Given the description of an element on the screen output the (x, y) to click on. 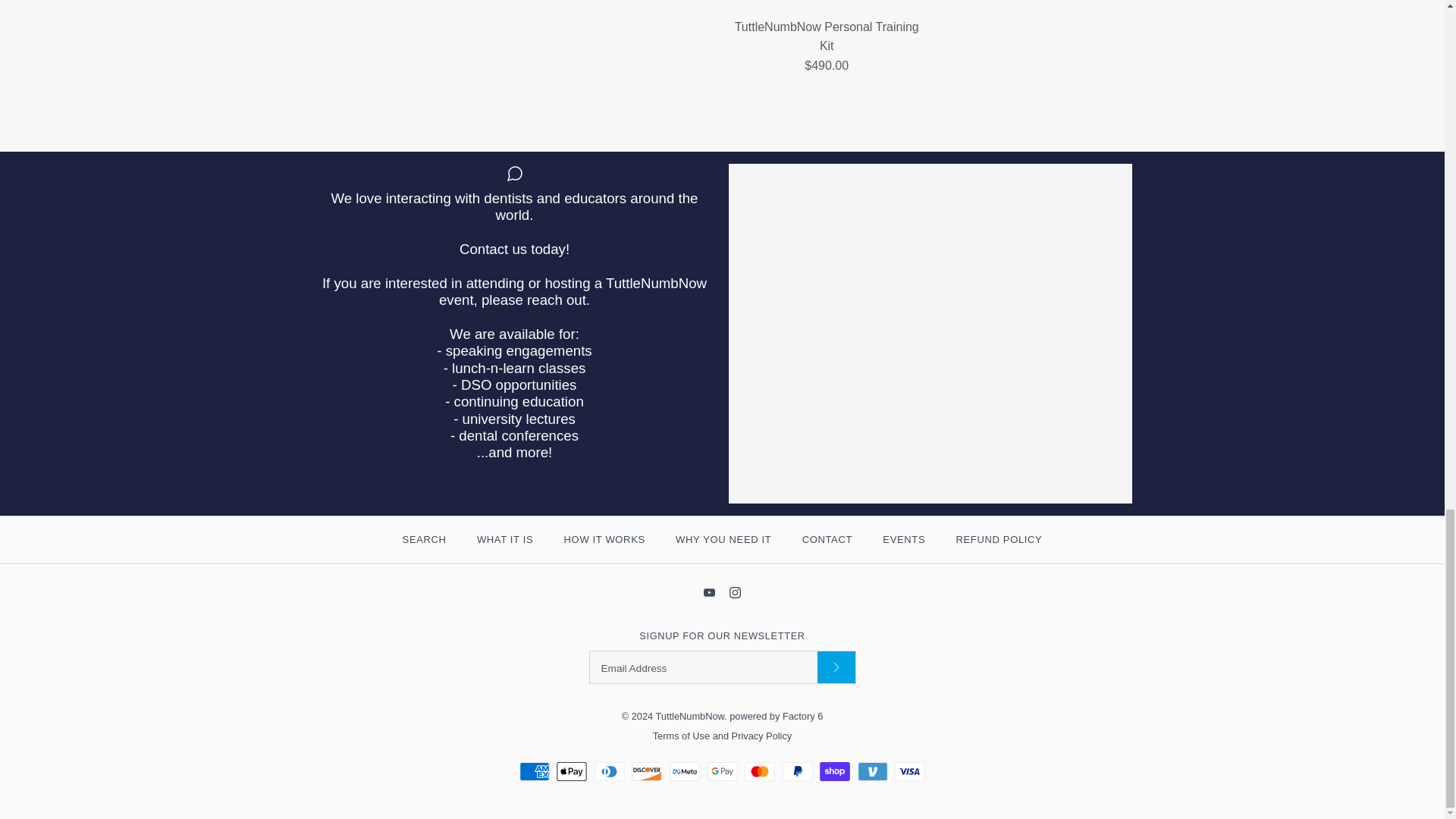
Meta Pay (684, 771)
Google Pay (721, 771)
Apple Pay (571, 771)
Youtube (708, 592)
Discover (646, 771)
Instagram (735, 592)
Diners Club (609, 771)
American Express (534, 771)
